Given the description of an element on the screen output the (x, y) to click on. 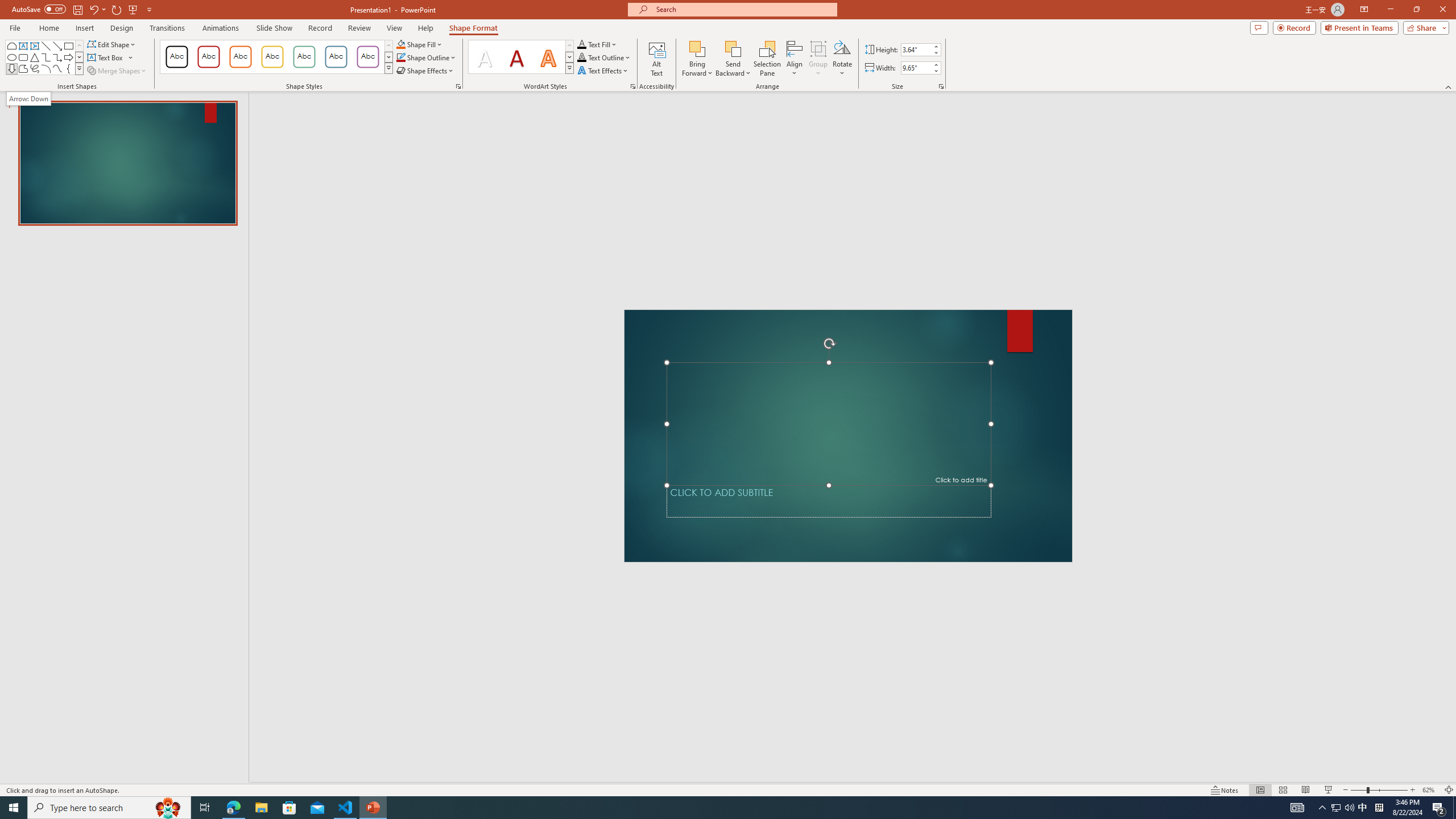
Arrow: Down (27, 98)
Oval (11, 57)
Alt Text (656, 58)
Align (794, 58)
Arrow: Right (68, 57)
Arc (46, 68)
AutomationID: TextStylesGallery (521, 56)
Send Backward (733, 58)
Freeform: Shape (23, 68)
